Given the description of an element on the screen output the (x, y) to click on. 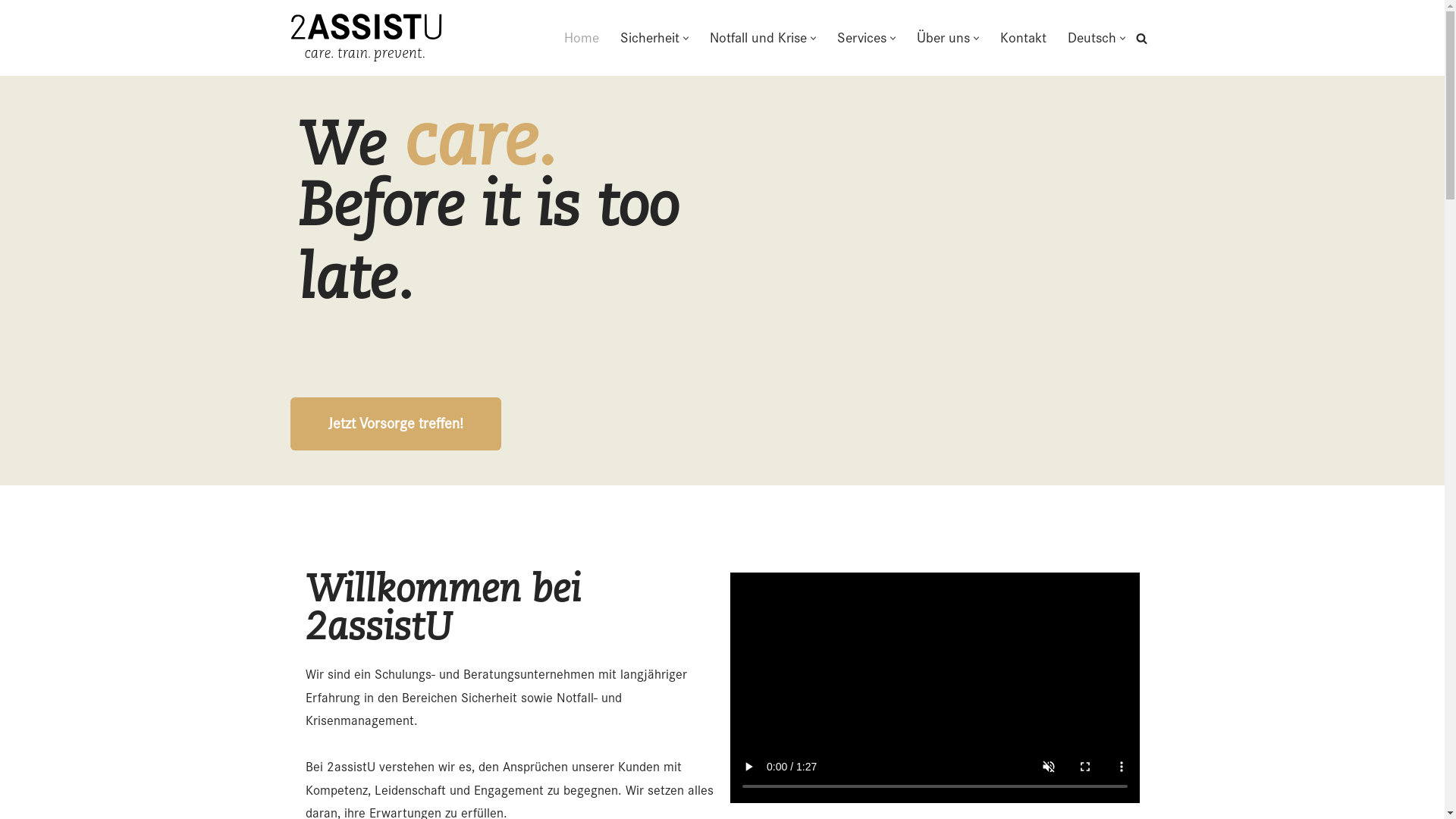
Zum Inhalt springen Element type: text (11, 31)
Notfall und Krise Element type: text (757, 37)
Services Element type: text (861, 37)
Home Element type: text (581, 37)
Kontakt Element type: text (1022, 37)
Sicherheit Element type: text (649, 37)
Jetzt Vorsorge treffen! Element type: text (394, 423)
Deutsch Element type: text (1091, 37)
